Given the description of an element on the screen output the (x, y) to click on. 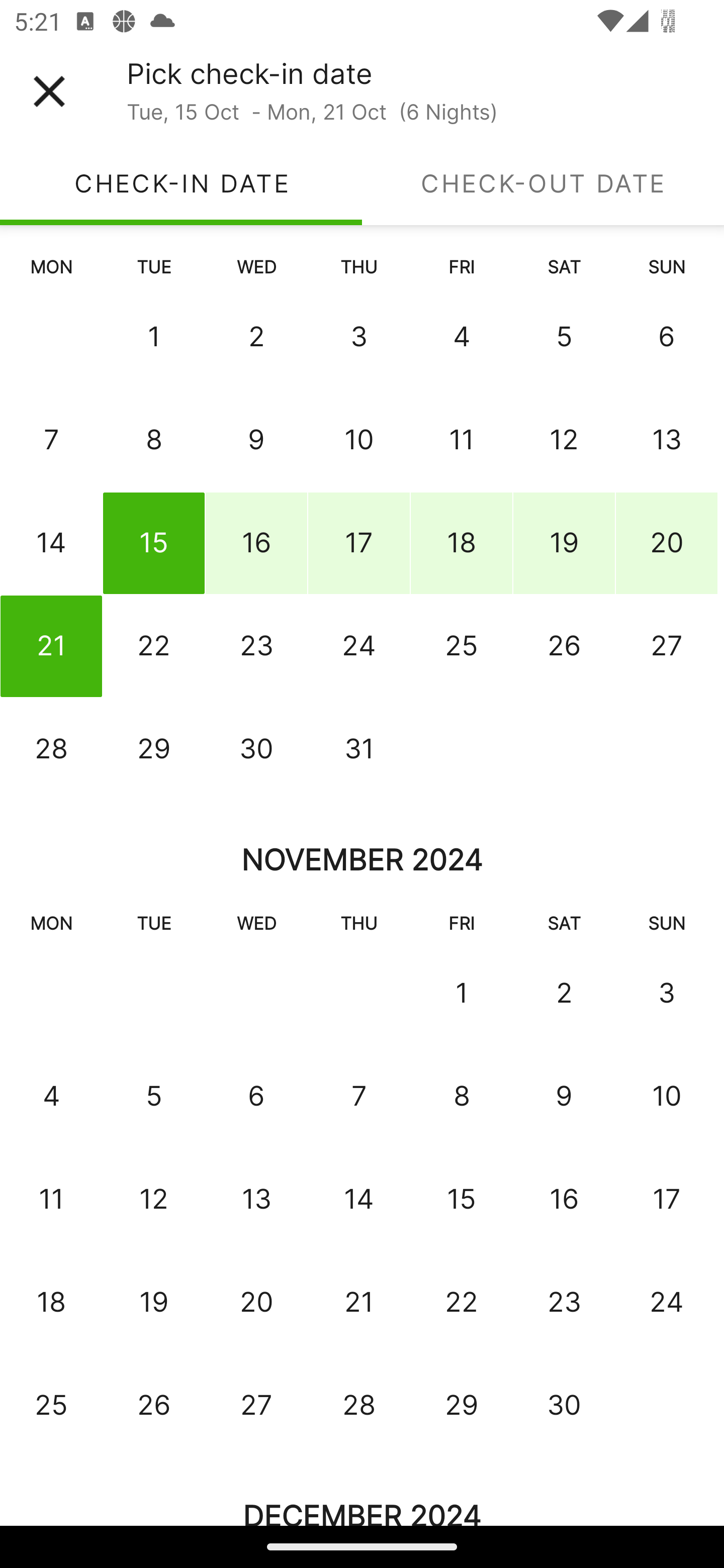
Check-out Date CHECK-OUT DATE (543, 183)
